Given the description of an element on the screen output the (x, y) to click on. 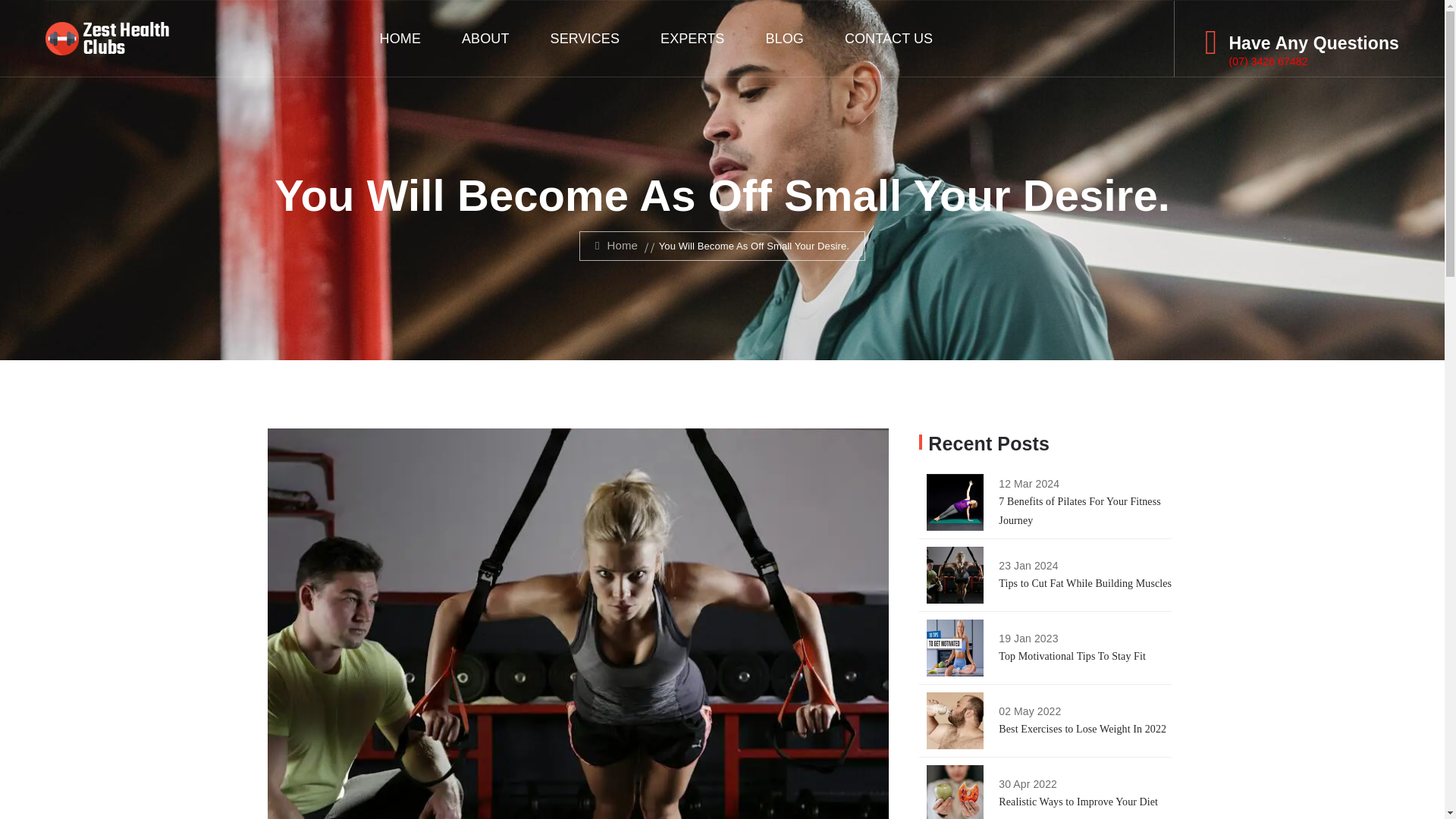
Homepage (616, 245)
Gimmer (106, 38)
EXPERTS (692, 38)
HOME (400, 38)
SERVICES (585, 38)
Best Exercises to Lose Weight In 2022 (1082, 728)
BLOG (783, 38)
CONTACT US (888, 38)
ABOUT (485, 38)
Realistic Ways to Improve Your Diet (1077, 801)
